Given the description of an element on the screen output the (x, y) to click on. 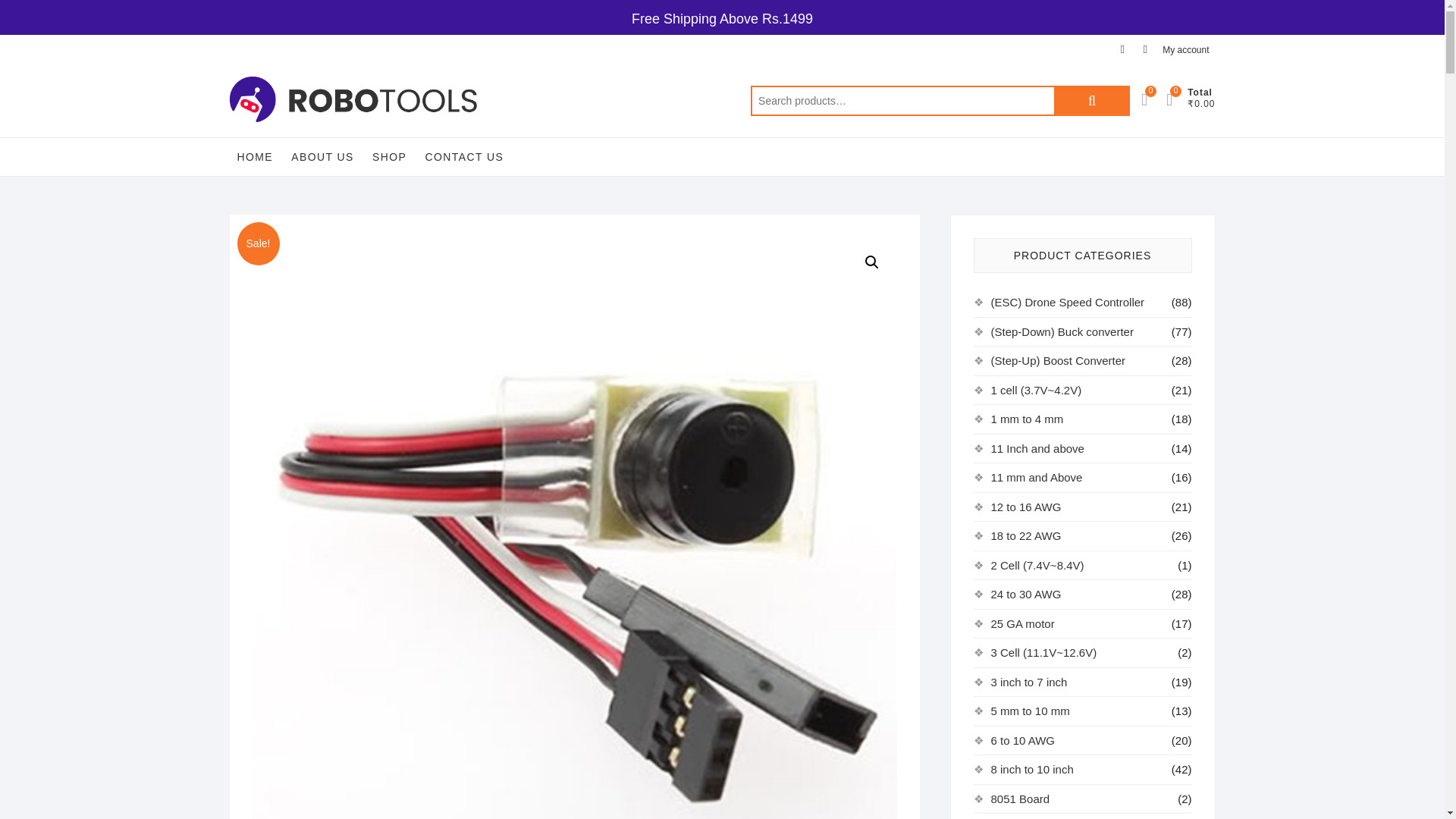
ABOUT US (322, 157)
CONTACT US (463, 157)
HOME (254, 157)
Search (1091, 100)
My account (1185, 49)
SHOP (389, 157)
